Given the description of an element on the screen output the (x, y) to click on. 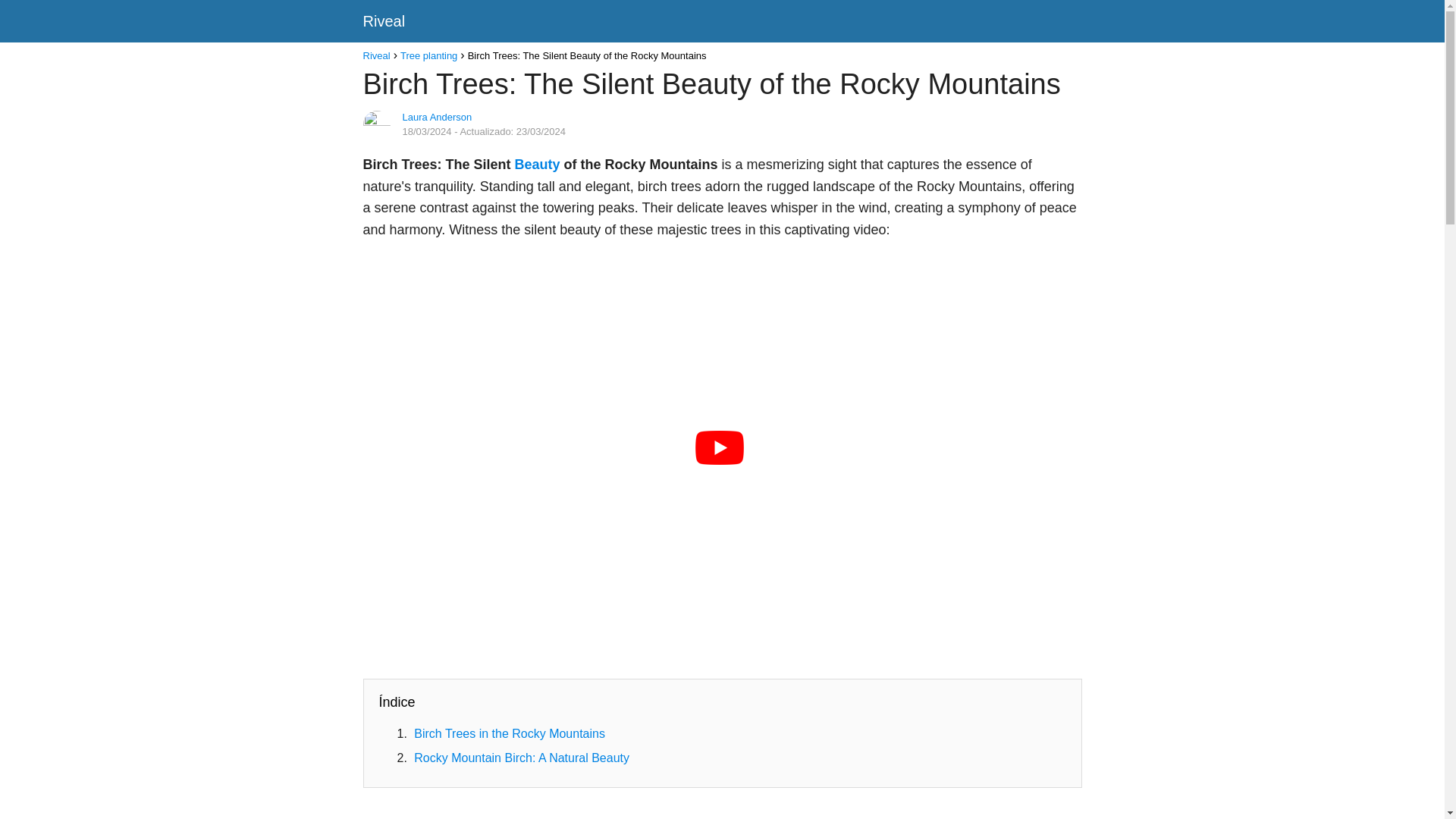
Birch Trees in the Rocky Mountains (509, 733)
Riveal (383, 21)
Rocky Mountain Birch: A Natural Beauty (520, 757)
Riveal (376, 55)
Laura Anderson (436, 116)
Tree planting (428, 55)
Beauty (537, 164)
Birch Trees in the Rocky Mountains (509, 733)
Rocky Mountain Birch: A Natural Beauty (520, 757)
